Given the description of an element on the screen output the (x, y) to click on. 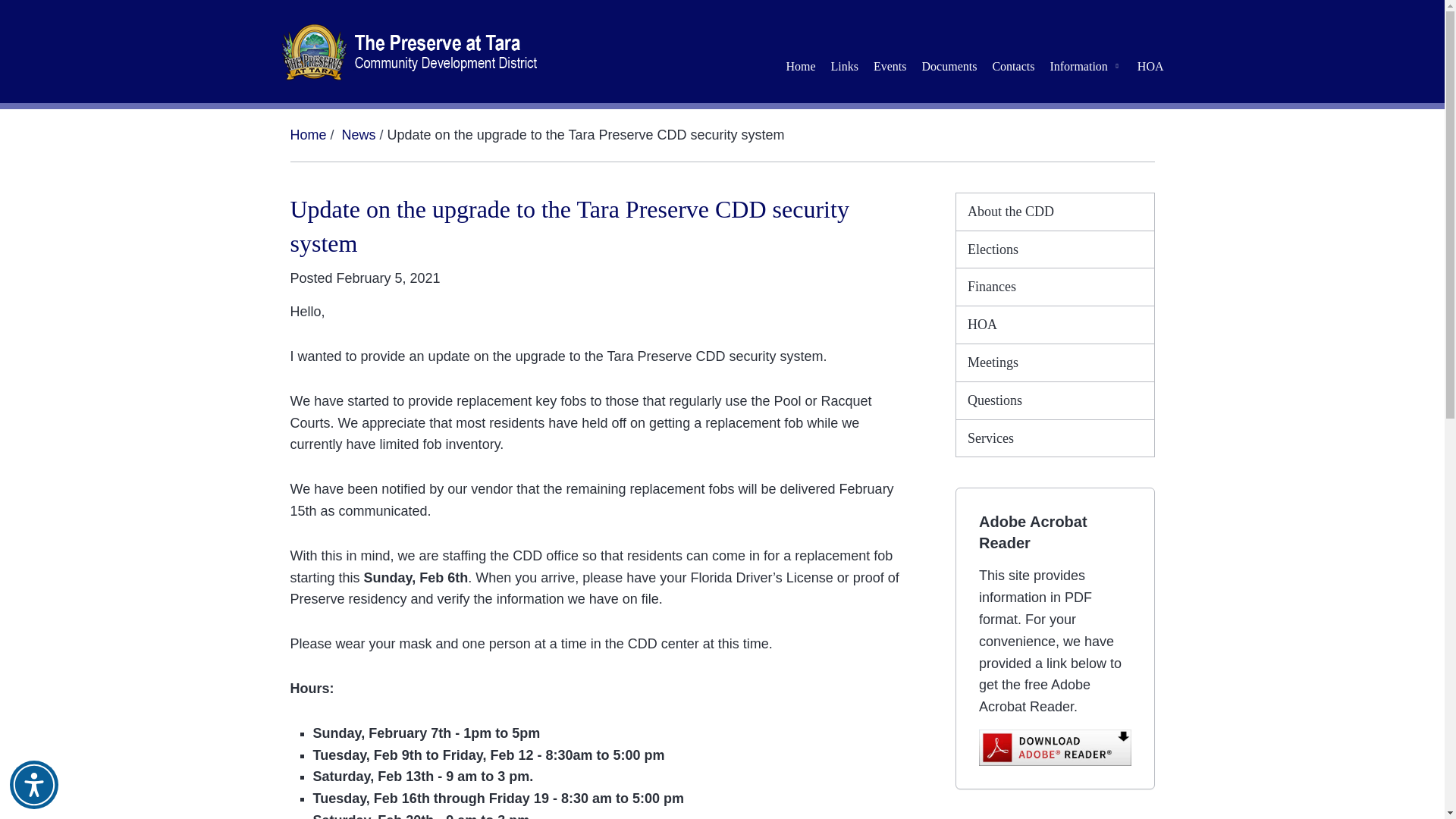
News (358, 134)
Accessibility Menu (34, 784)
Information (1085, 66)
HOA (1055, 324)
Home (307, 134)
Meetings (1055, 362)
Services (1055, 438)
Elections (1055, 249)
Questions (1055, 400)
Documents (949, 66)
